Given the description of an element on the screen output the (x, y) to click on. 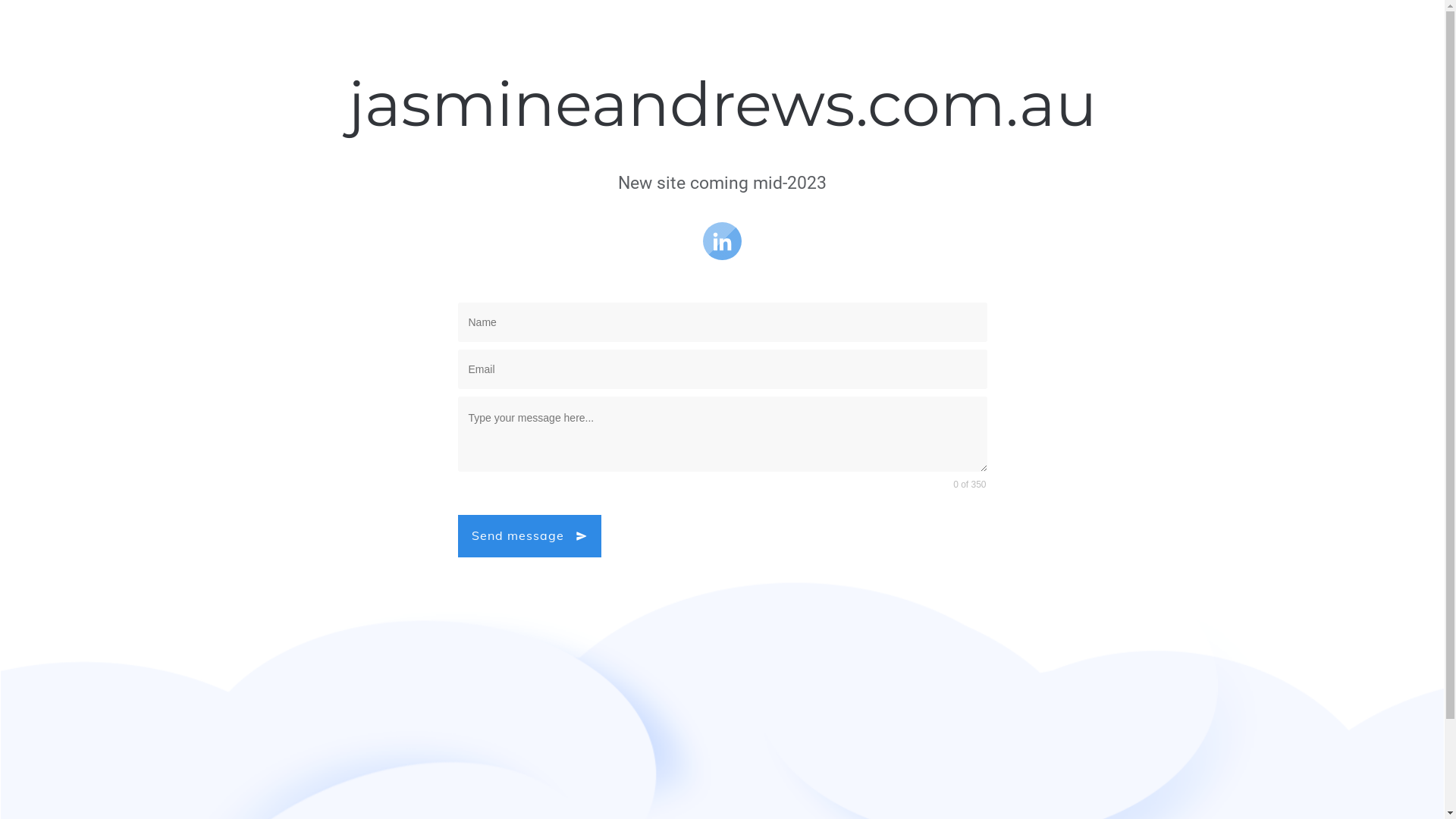
Send message Element type: text (529, 535)
